Given the description of an element on the screen output the (x, y) to click on. 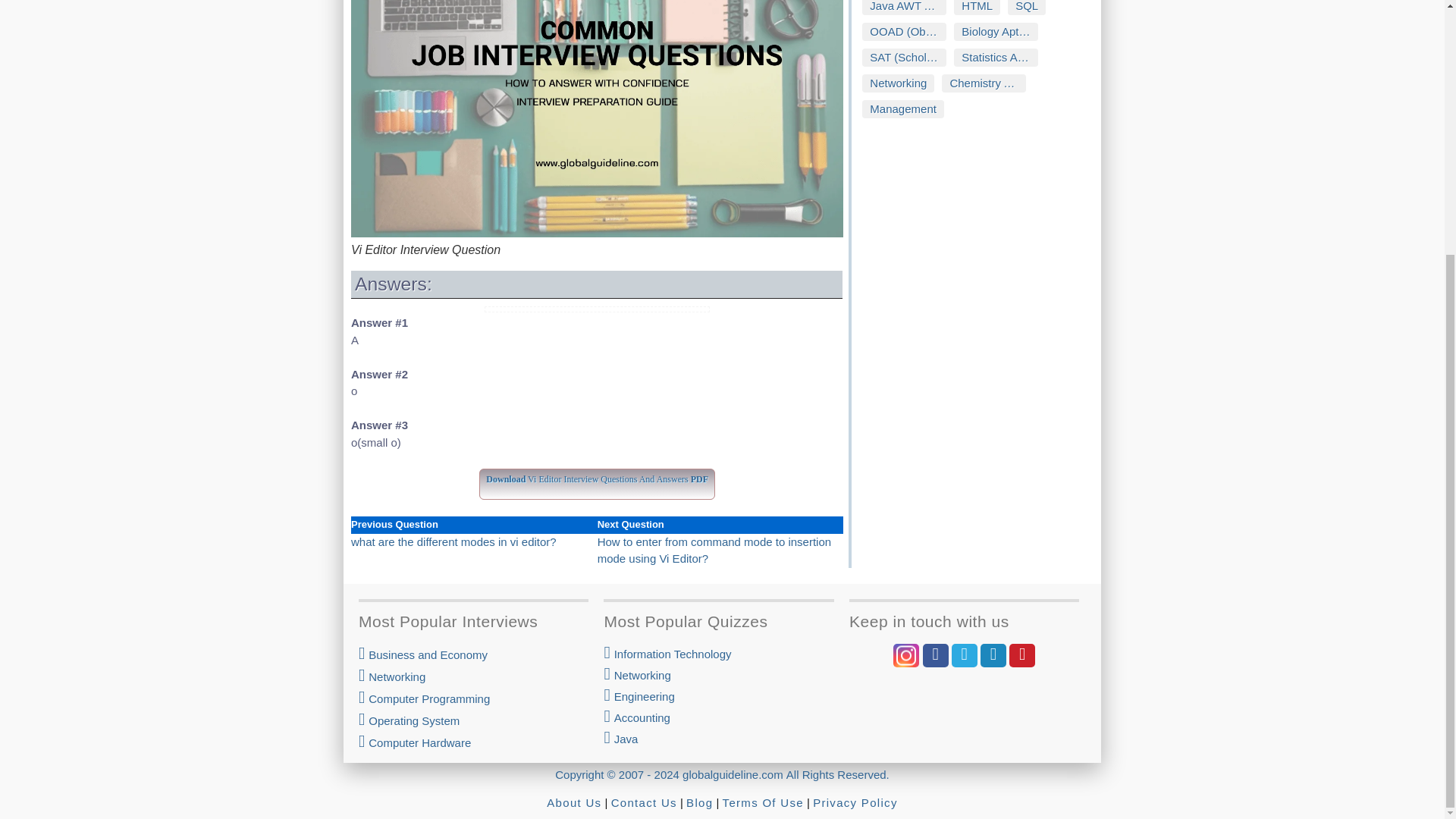
Business and Economy (473, 654)
Computer Programming Interviews (473, 698)
Operating System (473, 720)
Operating System Interviews (473, 720)
HTML (976, 7)
Java AWT And Swing (903, 7)
Download Vi Editor Interview Questions And Answers PDF (596, 476)
Statistics Aptitude Test Online Quiz Test (995, 57)
Chemistry Aptitude Test (984, 83)
